Given the description of an element on the screen output the (x, y) to click on. 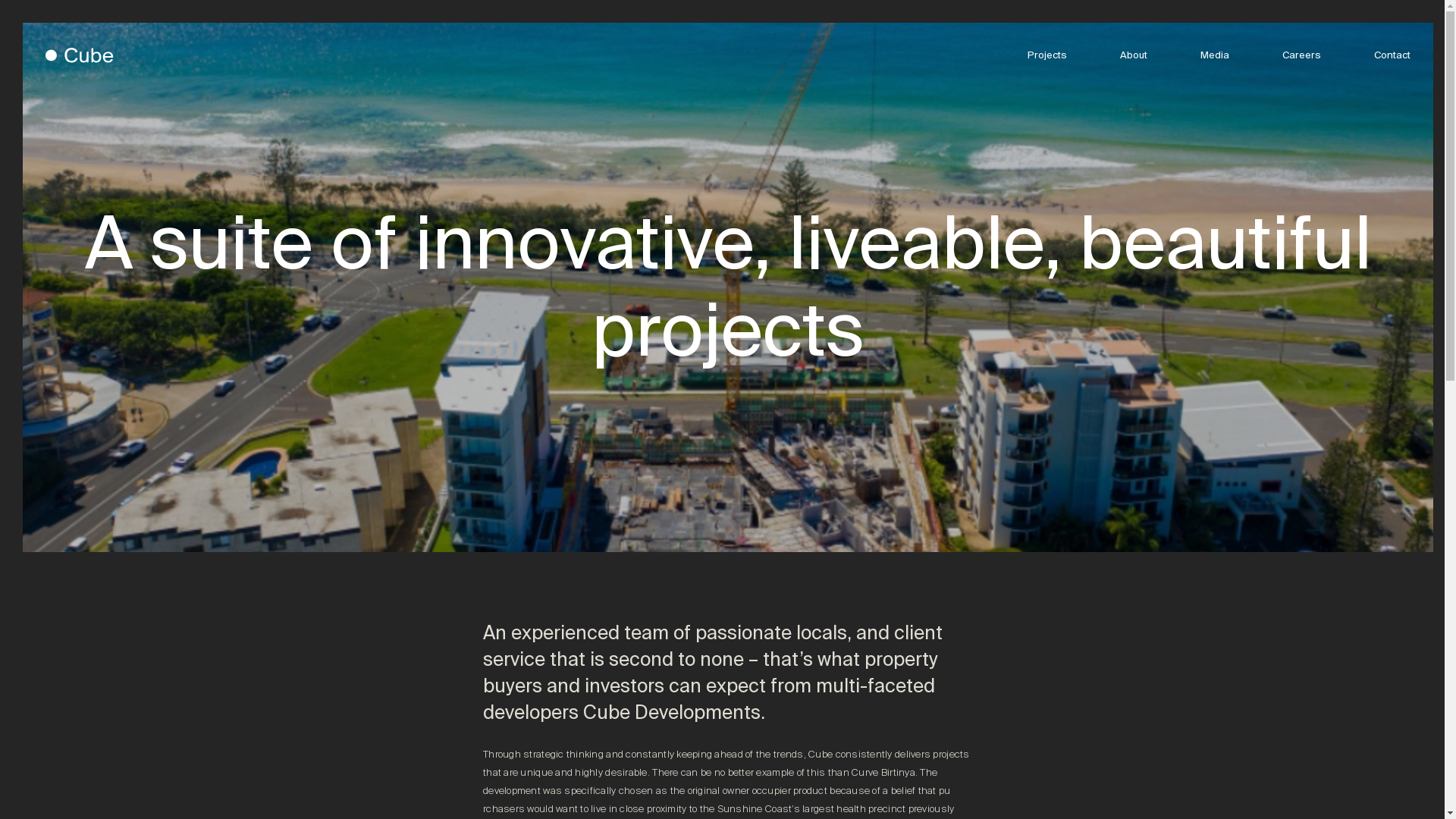
Media Element type: text (1214, 55)
Projects Element type: text (1046, 55)
Careers Element type: text (1301, 55)
Cube Developments Element type: hover (79, 54)
Contact Element type: text (1392, 55)
About Element type: text (1133, 55)
